Given the description of an element on the screen output the (x, y) to click on. 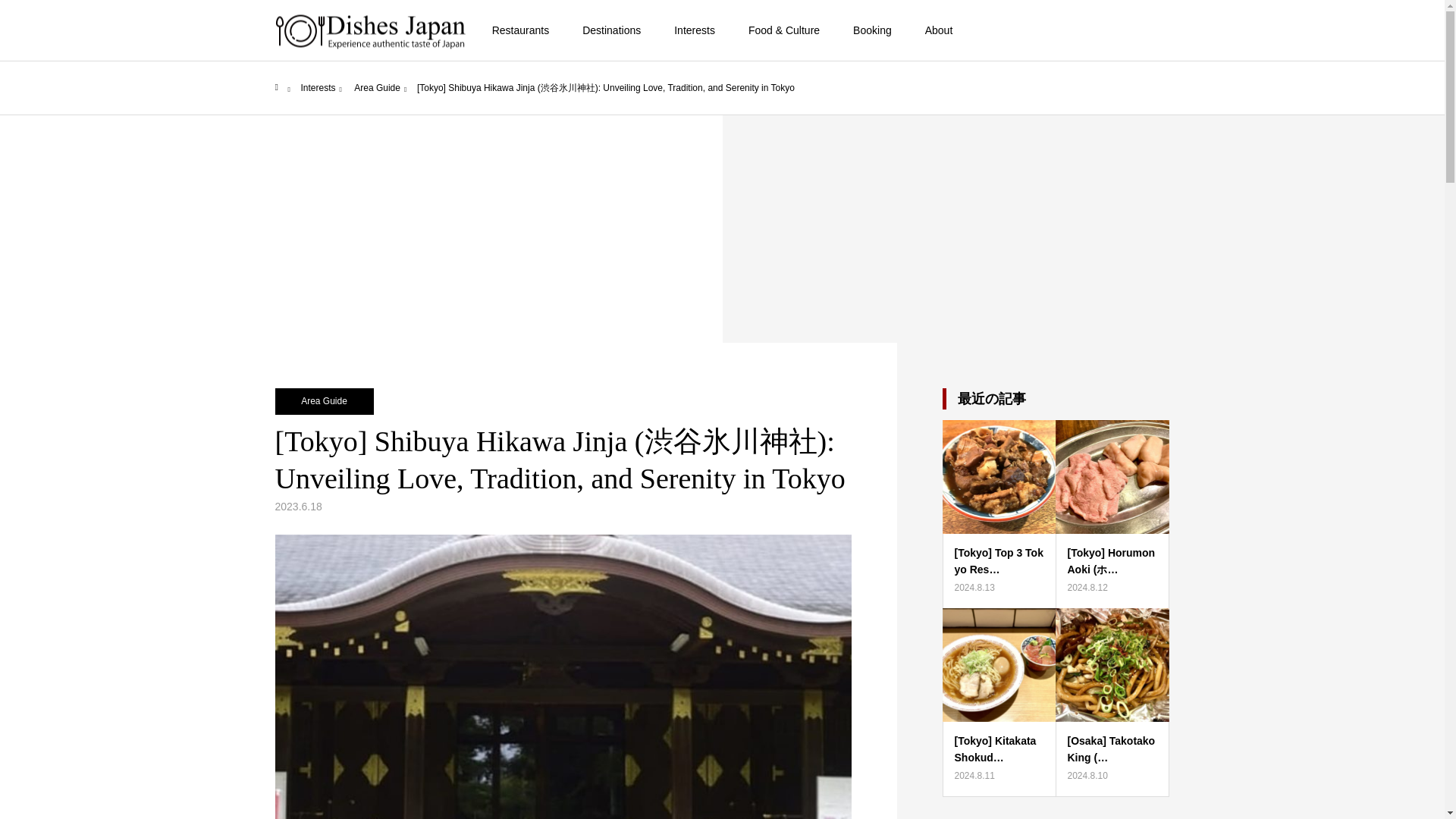
Interests (316, 87)
About (938, 30)
Home (279, 87)
Restaurants (521, 30)
Area Guide (323, 401)
Destinations (612, 30)
Interests (695, 30)
Dishes Japan (370, 30)
Area Guide (376, 87)
